Given the description of an element on the screen output the (x, y) to click on. 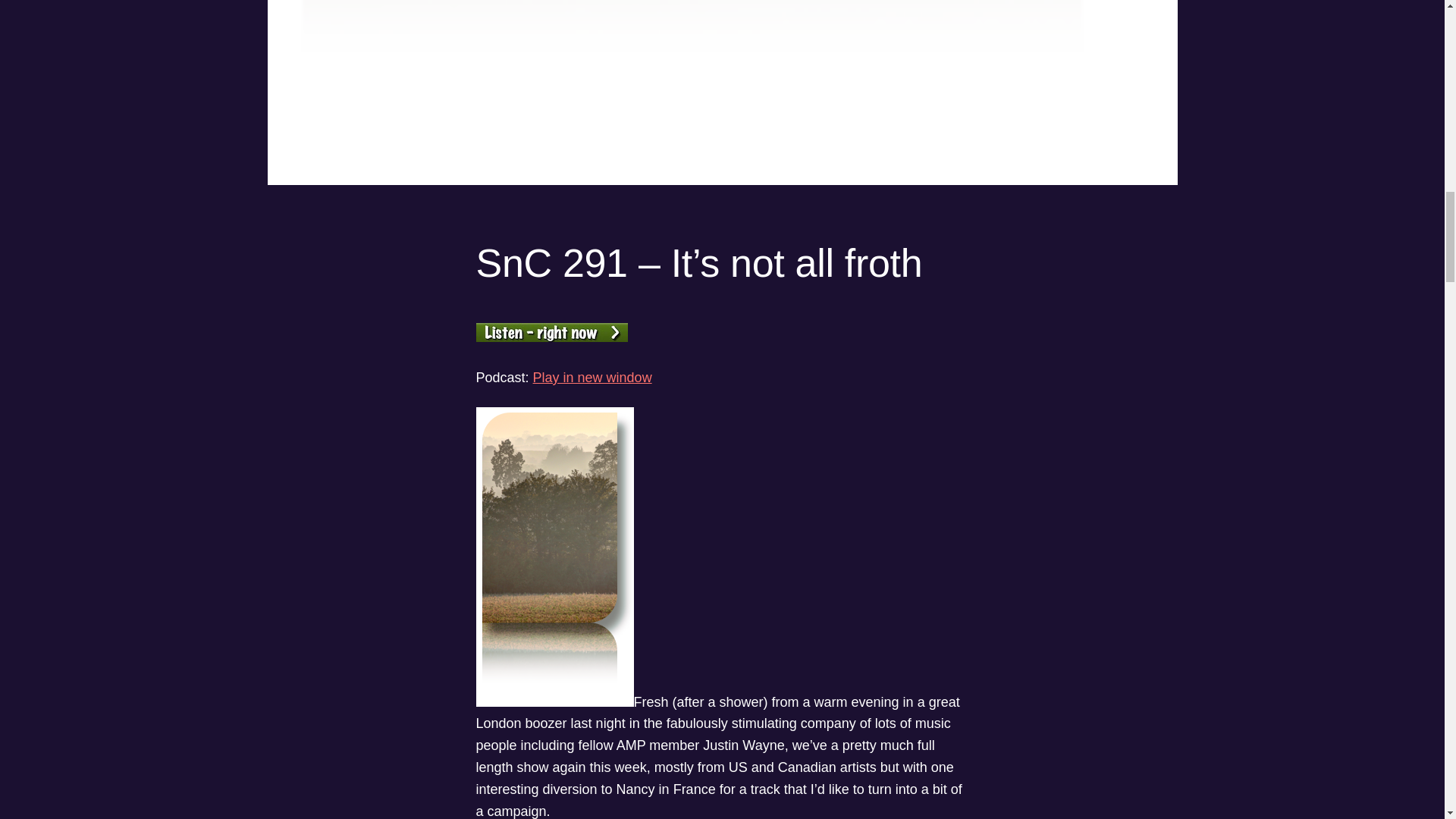
Play in new window (592, 377)
Play (551, 337)
Play (551, 332)
Play in new window (592, 377)
